Given the description of an element on the screen output the (x, y) to click on. 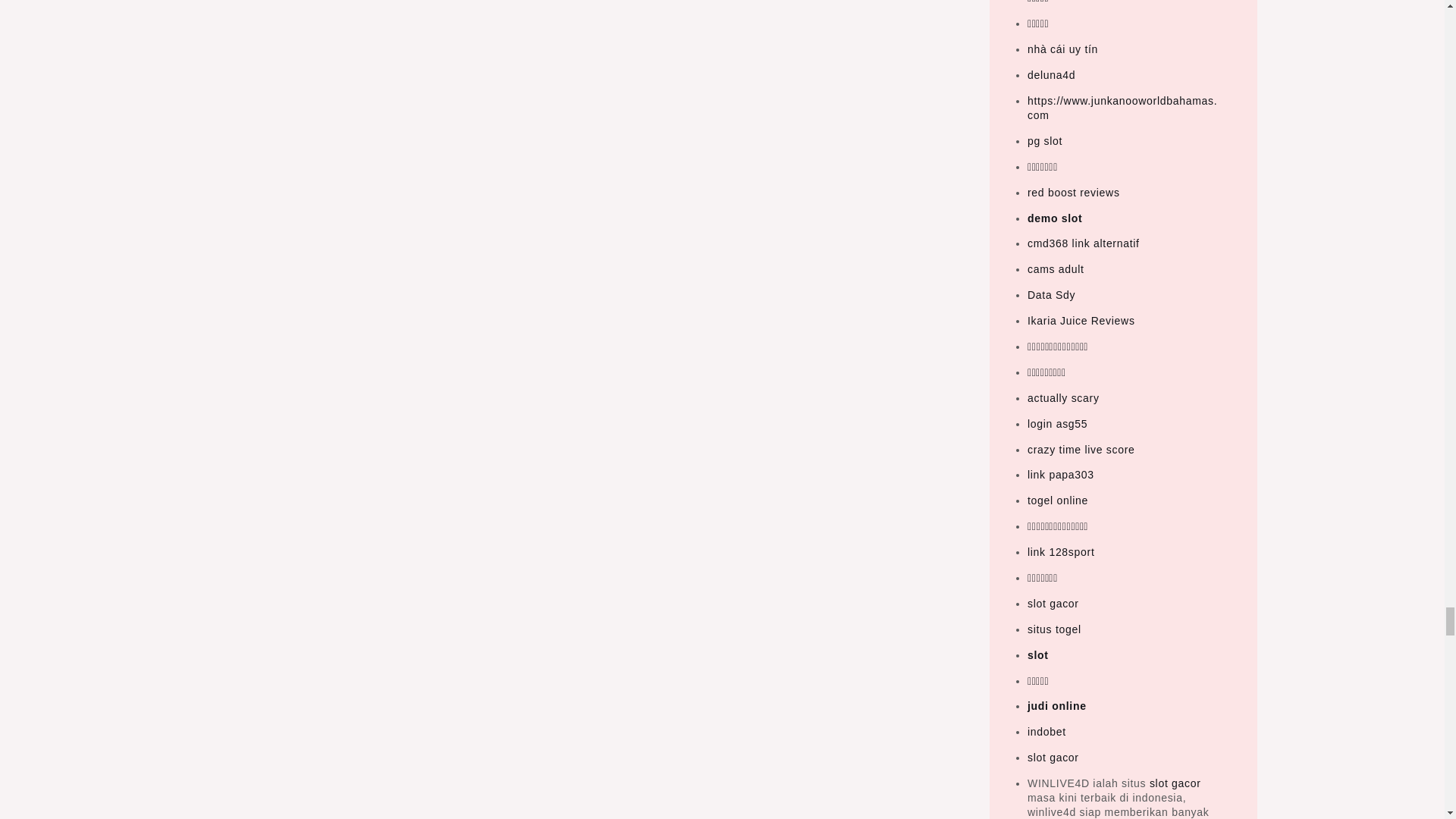
slot gacor (1175, 783)
